Given the description of an element on the screen output the (x, y) to click on. 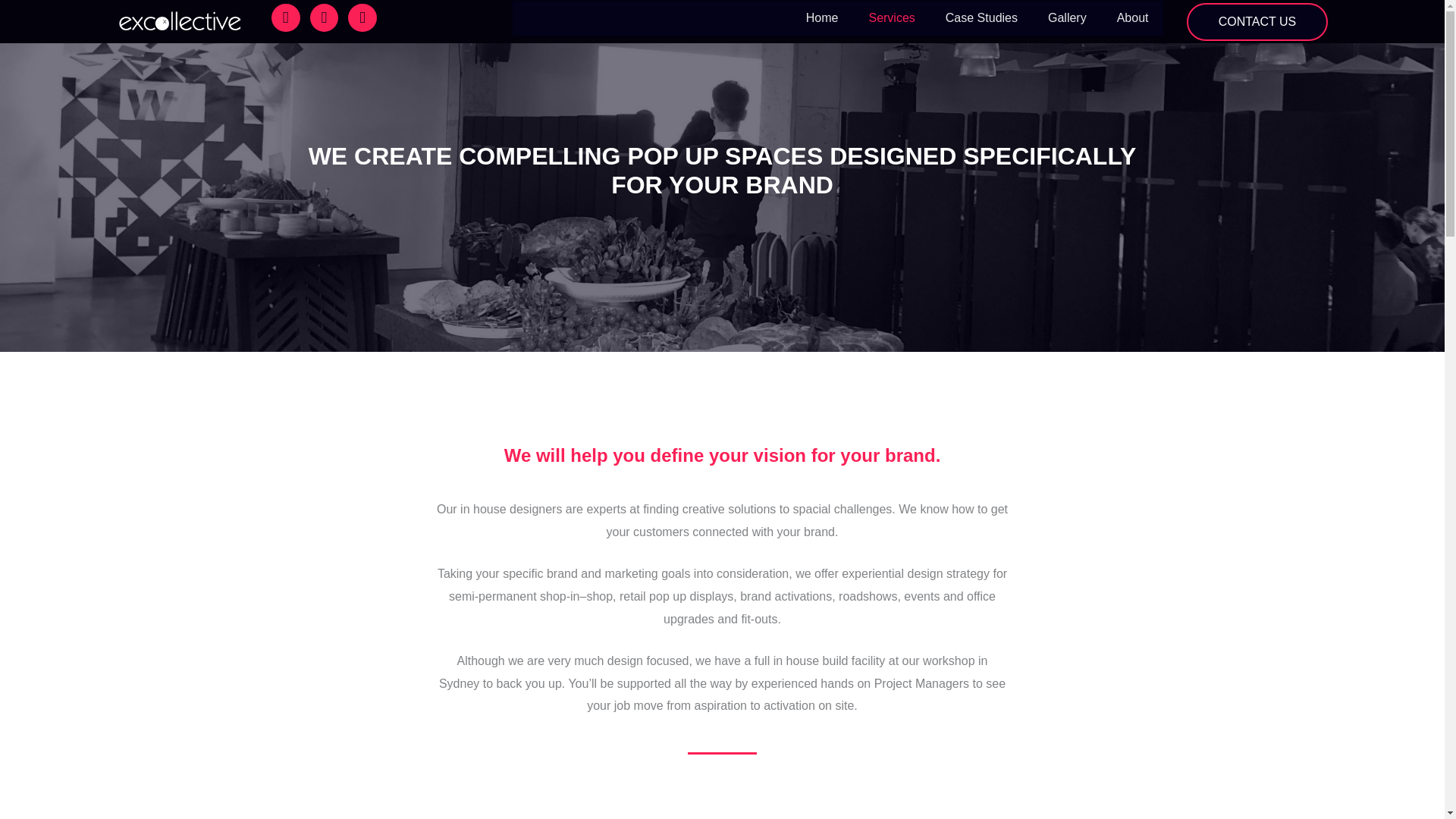
Home (821, 17)
About (1132, 17)
CONTACT US (1256, 21)
Services (891, 17)
Gallery (1067, 17)
Case Studies (981, 17)
